Given the description of an element on the screen output the (x, y) to click on. 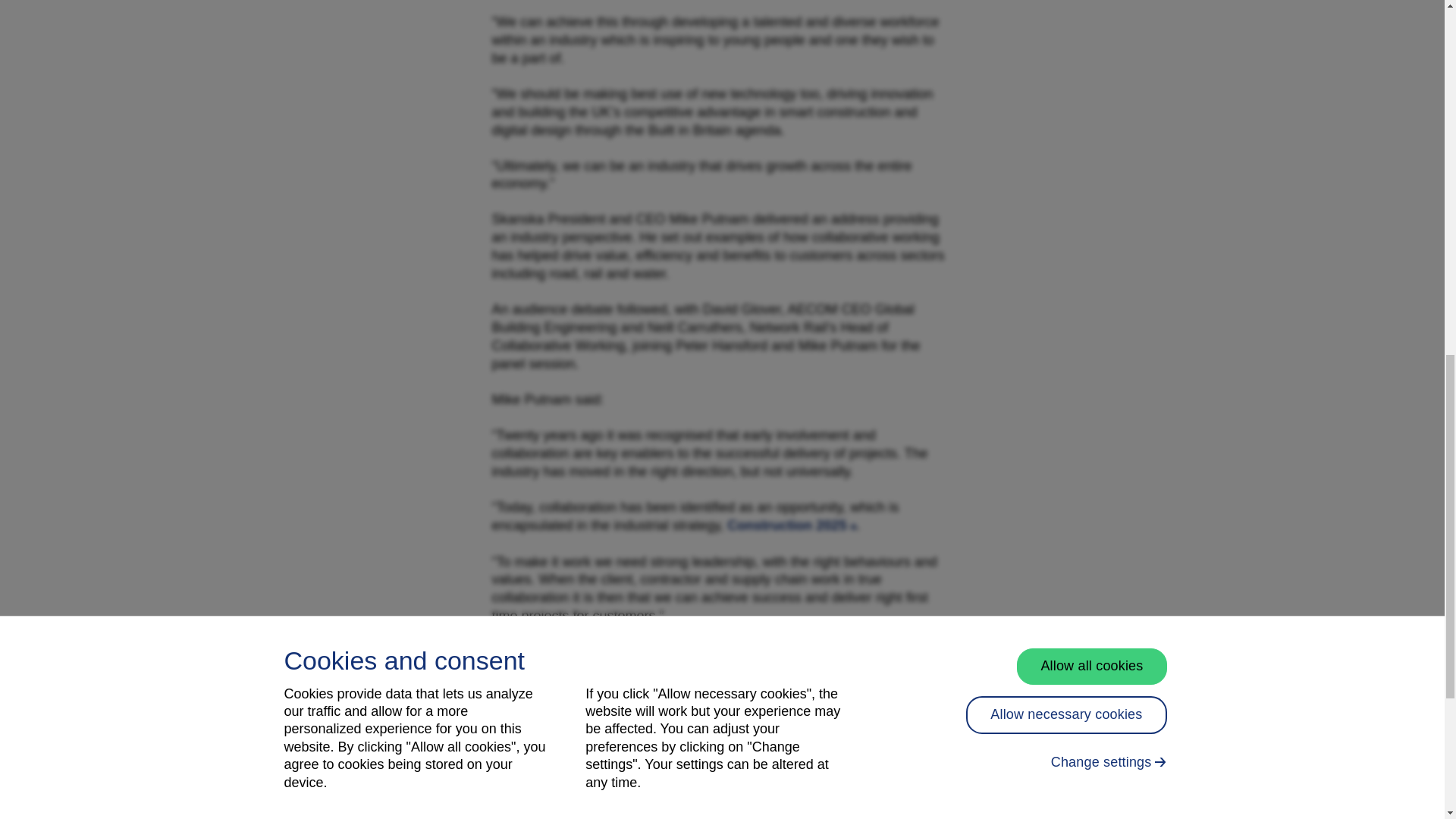
Construction 2025 (791, 525)
Back to top (1366, 30)
